Given the description of an element on the screen output the (x, y) to click on. 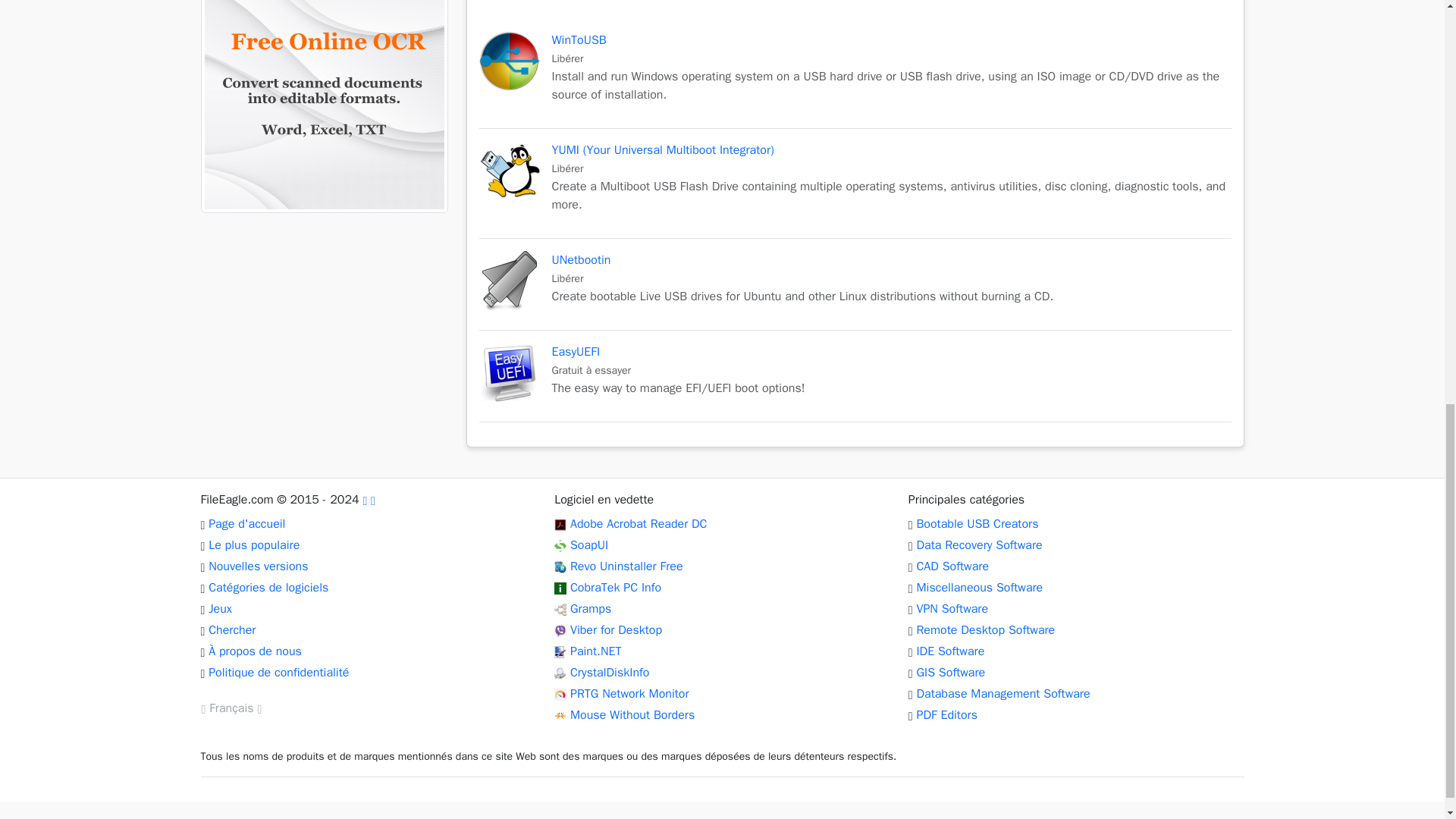
Free Online OCR Converter (638, 523)
